Given the description of an element on the screen output the (x, y) to click on. 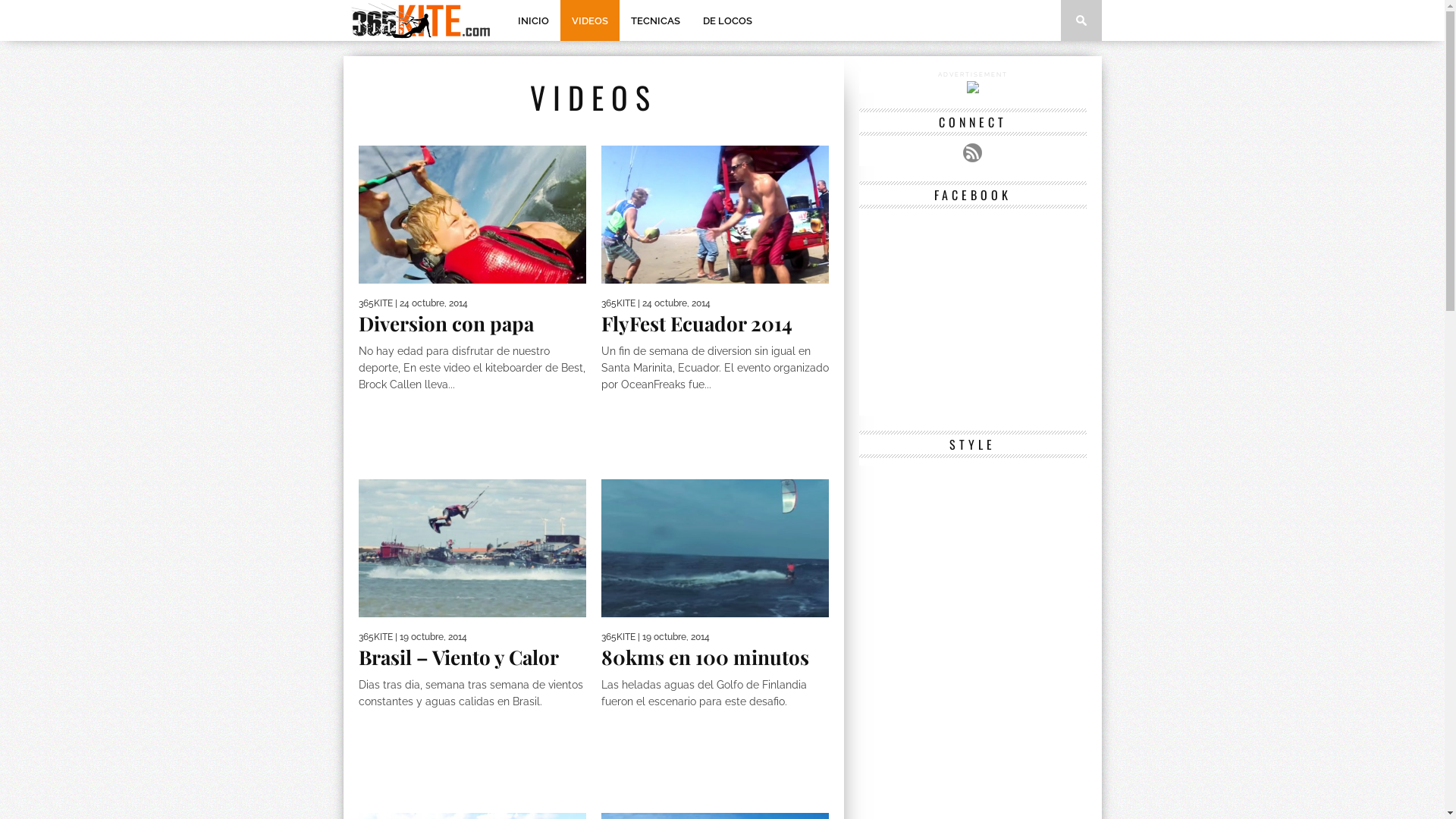
INICIO Element type: text (533, 20)
VIDEOS Element type: text (588, 20)
DE LOCOS Element type: text (727, 20)
TECNICAS Element type: text (654, 20)
